Given the description of an element on the screen output the (x, y) to click on. 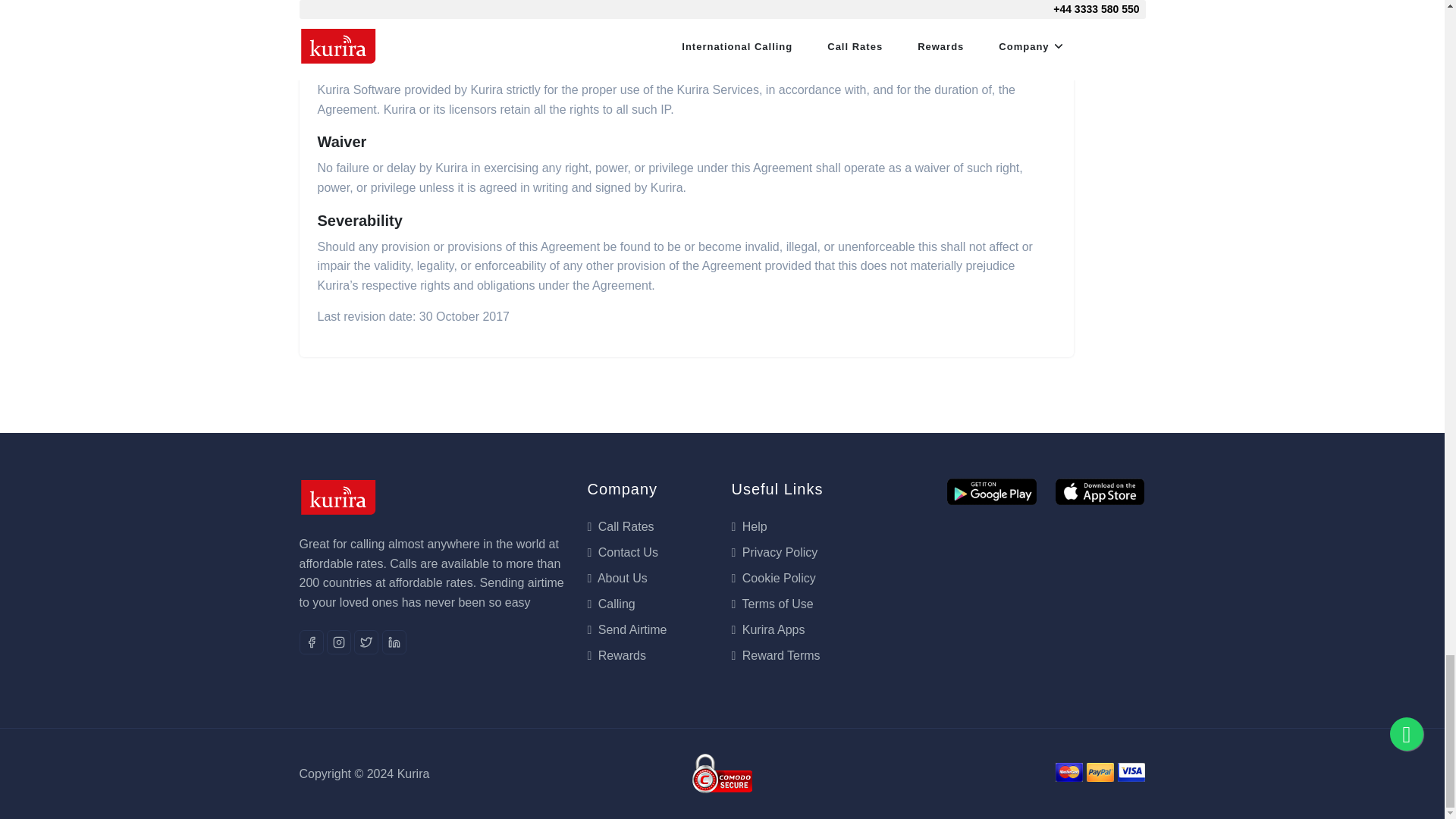
Kurira Apps (767, 629)
Contact Us (622, 552)
Paypal (722, 773)
Privacy Policy (773, 552)
Reward Terms (774, 655)
Rewards (615, 655)
Send Airtime (626, 629)
Help (748, 526)
Calling (610, 603)
Terms of Use (771, 603)
